Given the description of an element on the screen output the (x, y) to click on. 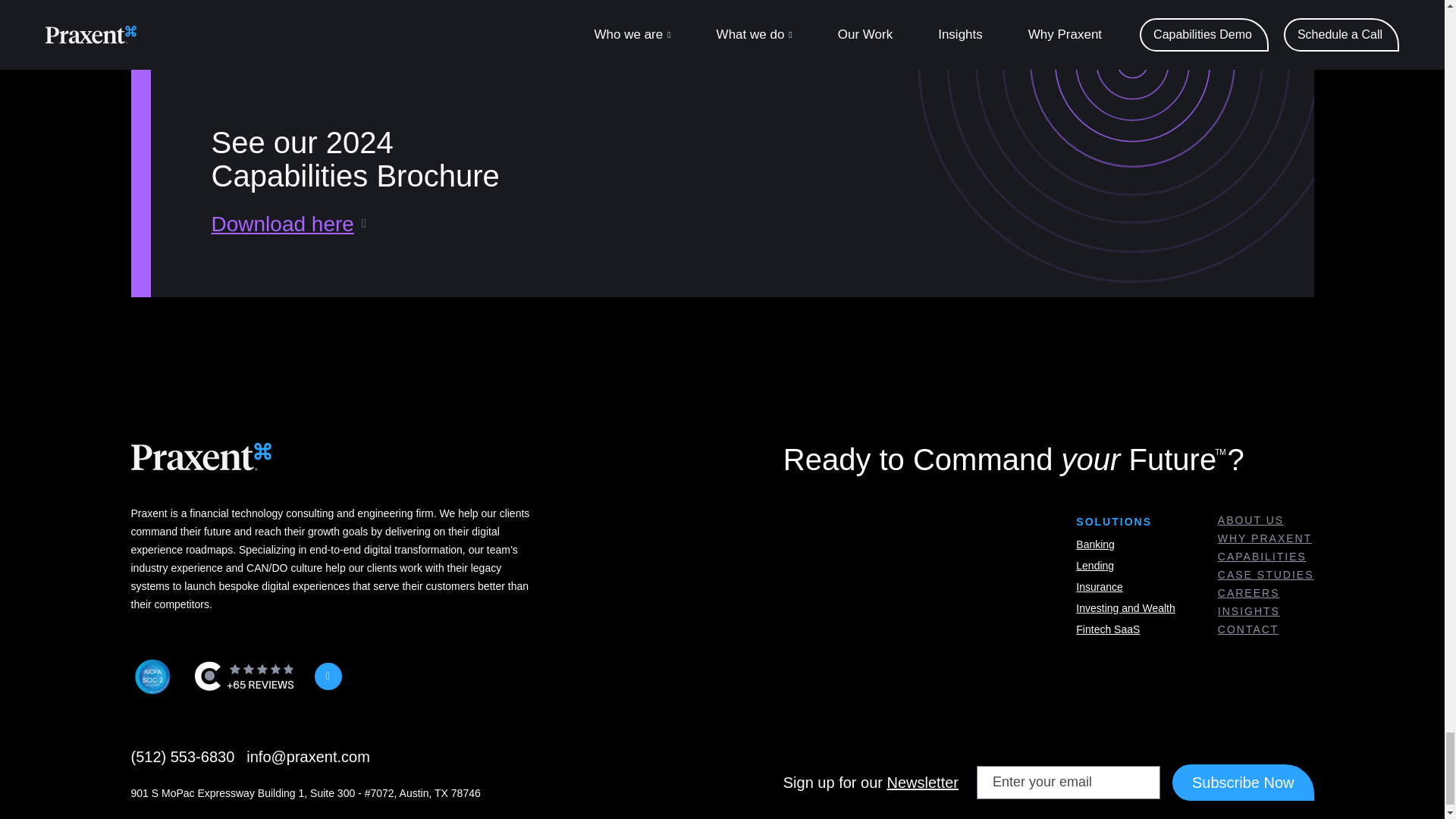
Subscribe Now (1243, 782)
